Given the description of an element on the screen output the (x, y) to click on. 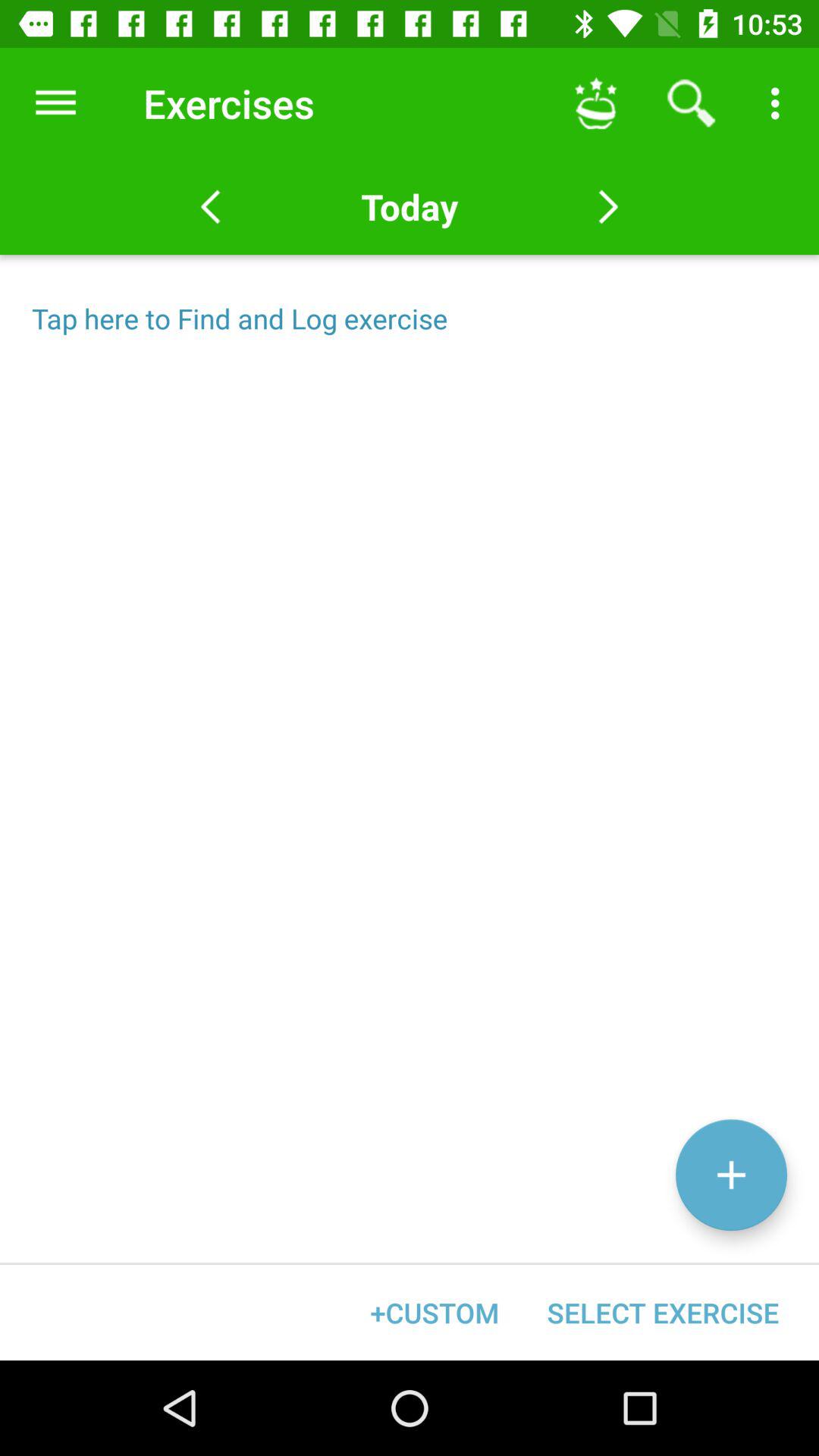
flip until select exercise (663, 1312)
